Given the description of an element on the screen output the (x, y) to click on. 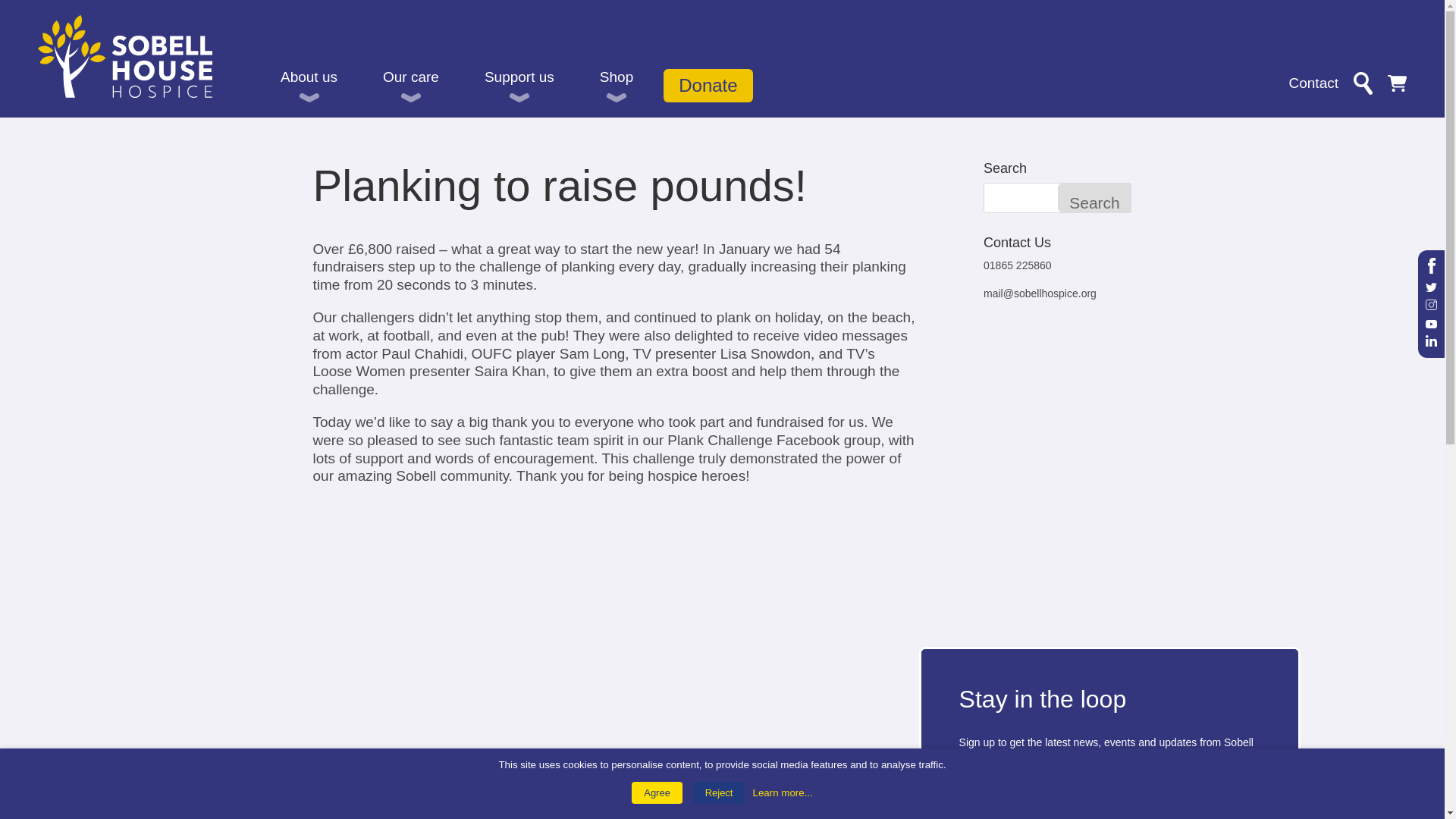
Search (1095, 197)
About us (308, 85)
Our care (411, 85)
Support us (518, 85)
